Given the description of an element on the screen output the (x, y) to click on. 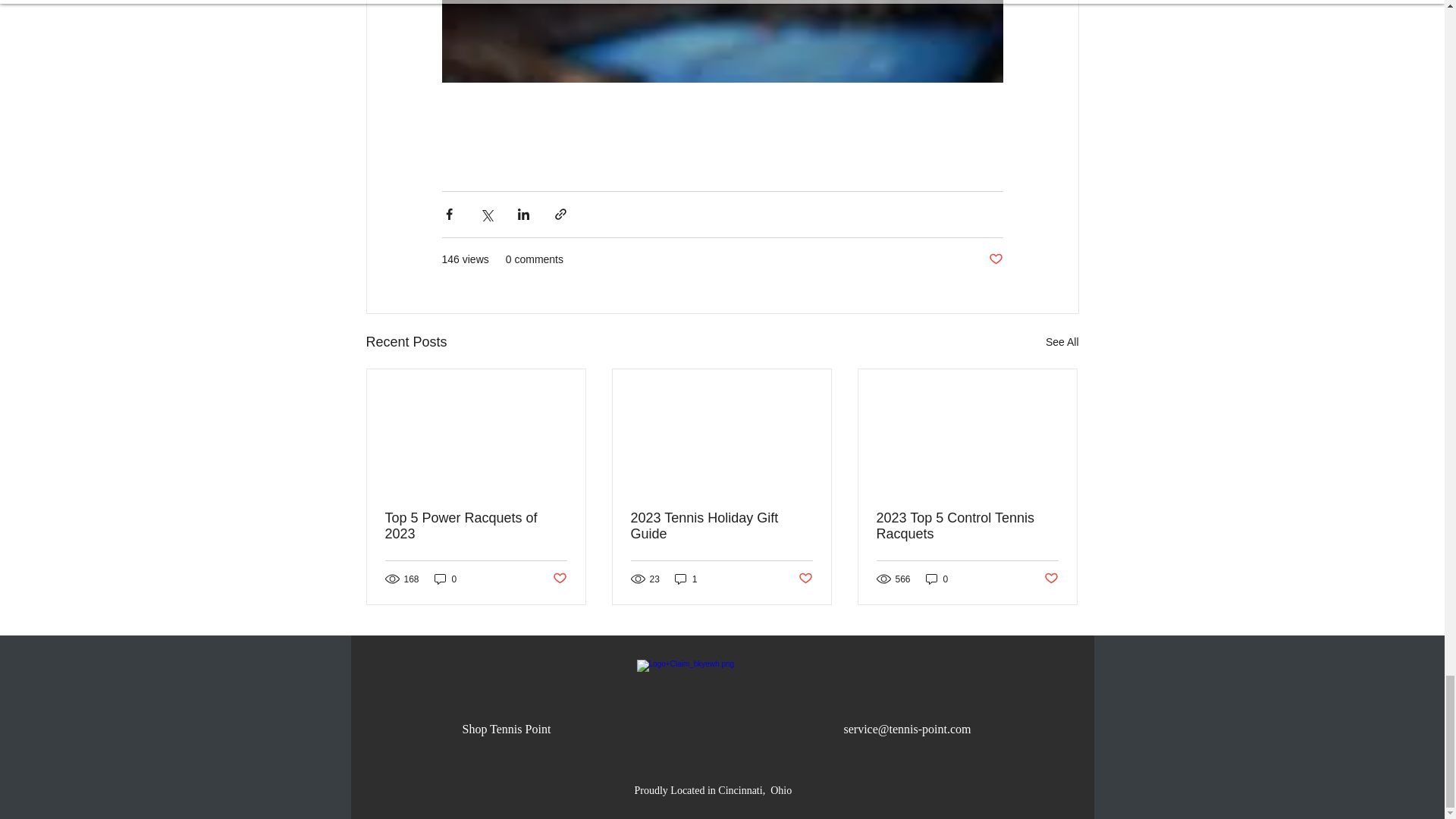
Post not marked as liked (558, 578)
See All (1061, 341)
1 (685, 578)
Proudly Located in Cincinnati,  Ohio  (713, 789)
Shop Tennis Point (507, 728)
Post not marked as liked (995, 259)
Post not marked as liked (804, 578)
0 (445, 578)
2023 Tennis Holiday Gift Guide (721, 526)
Post not marked as liked (1050, 578)
2023 Top 5 Control Tennis Racquets (967, 526)
Top 5 Power Racquets of 2023 (476, 526)
0 (937, 578)
